Given the description of an element on the screen output the (x, y) to click on. 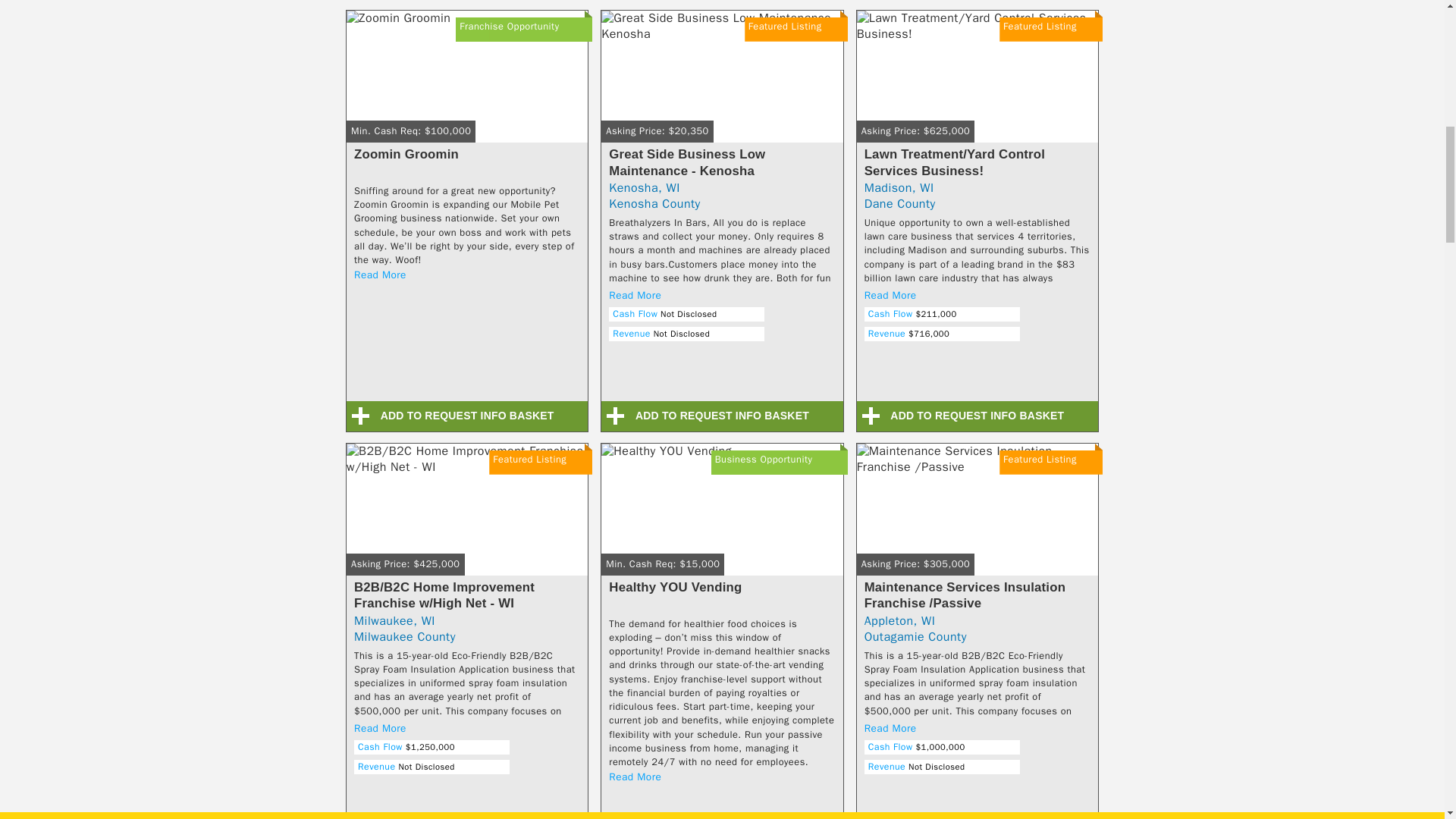
Zoomin Groomin (467, 83)
Great Side Business Low Maintenance - Kenosha   (722, 83)
Healthy YOU Vending (722, 516)
